Given the description of an element on the screen output the (x, y) to click on. 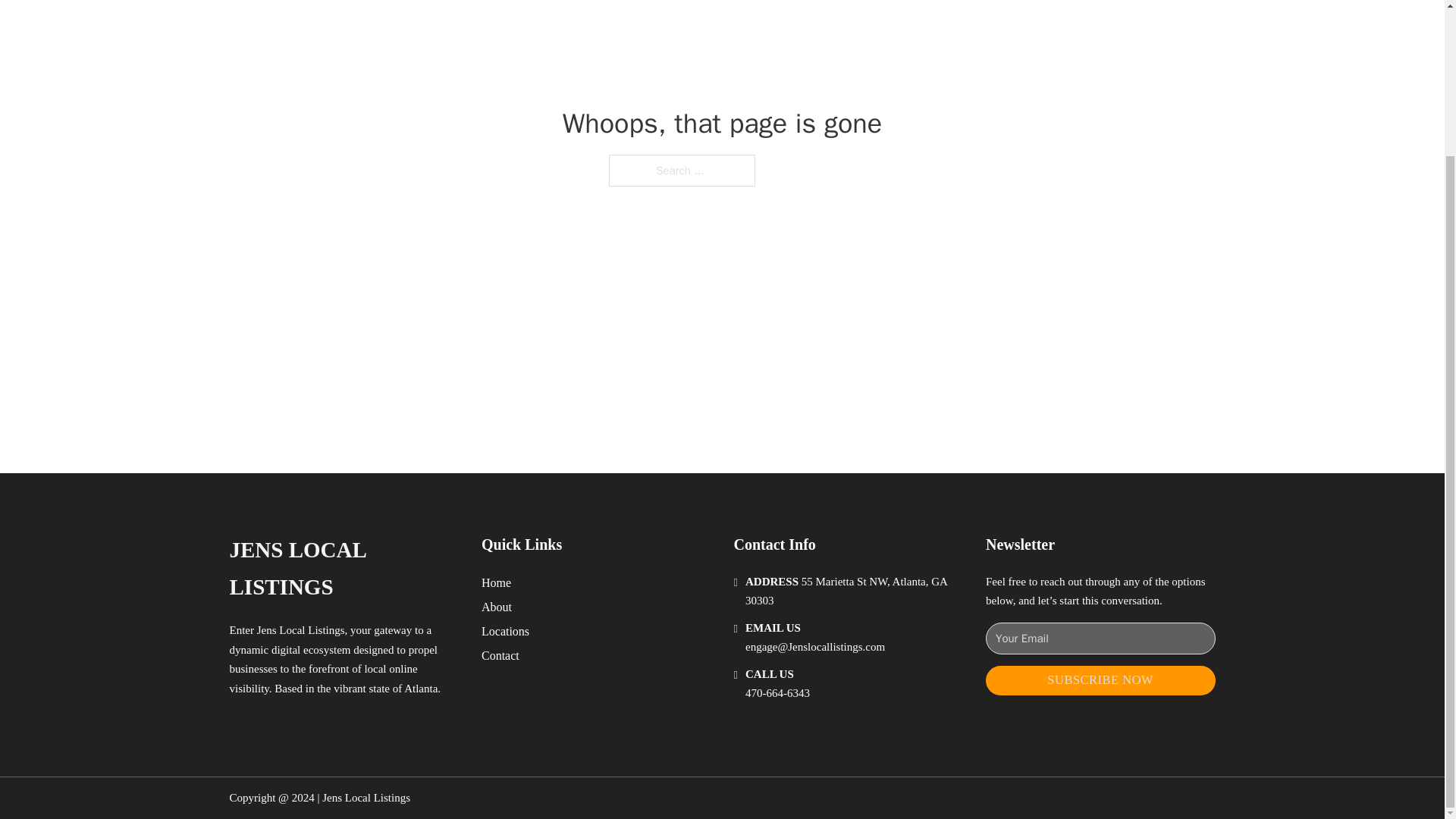
Home (496, 582)
Locations (505, 630)
JENS LOCAL LISTINGS (343, 568)
470-664-6343 (777, 693)
Contact (500, 655)
SUBSCRIBE NOW (1100, 680)
About (496, 607)
